Given the description of an element on the screen output the (x, y) to click on. 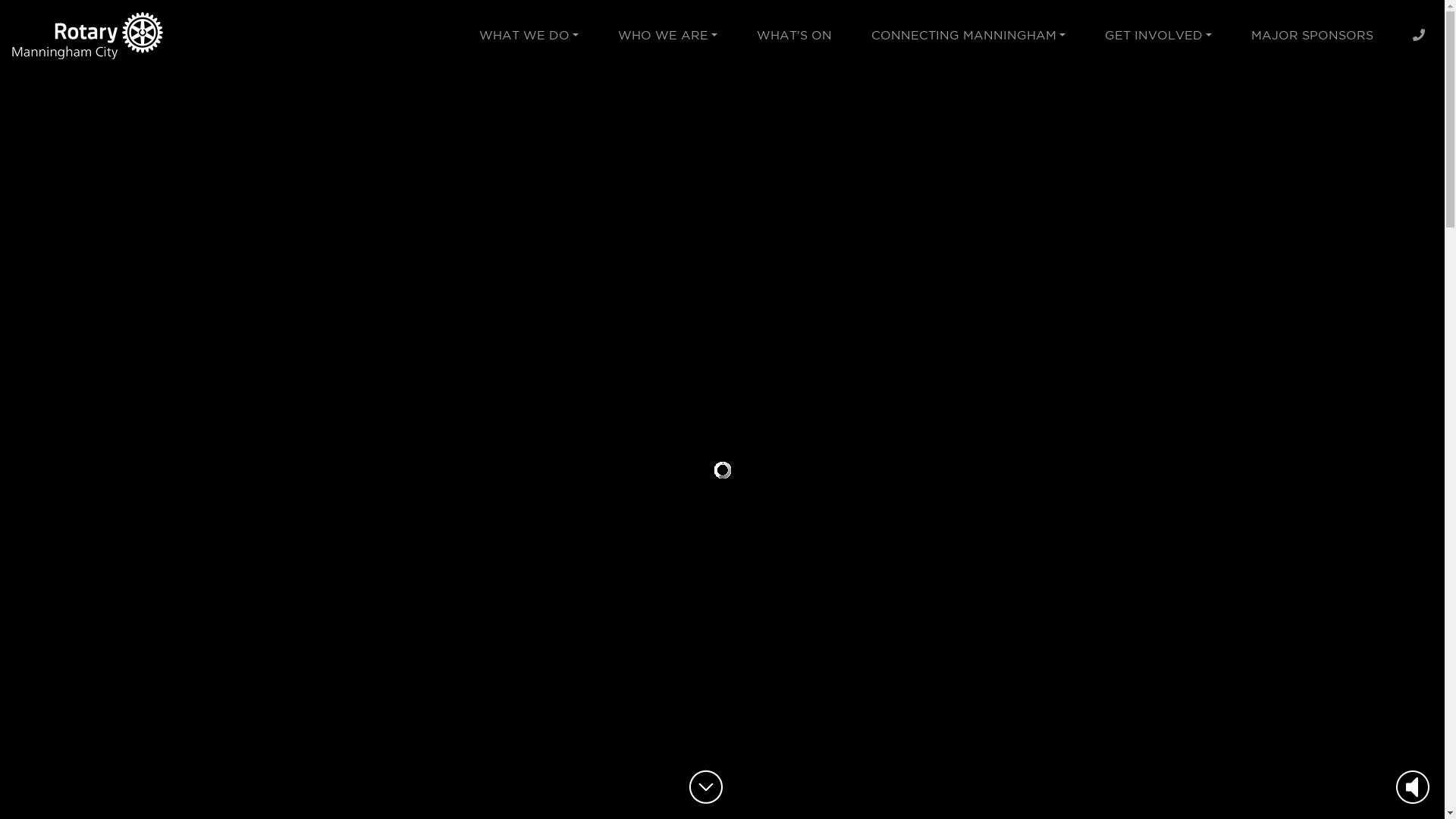
CONNECTING MANNINGHAM Element type: text (968, 37)
WHAT'S ON Element type: text (793, 37)
WHAT WE DO Element type: text (528, 37)
GET INVOLVED Element type: text (1157, 37)
WHO WE ARE Element type: text (667, 37)
Rotary Manningham City Element type: hover (87, 33)
Rotary Manningham City Element type: hover (87, 35)
MAJOR SPONSORS Element type: text (1312, 37)
